Given the description of an element on the screen output the (x, y) to click on. 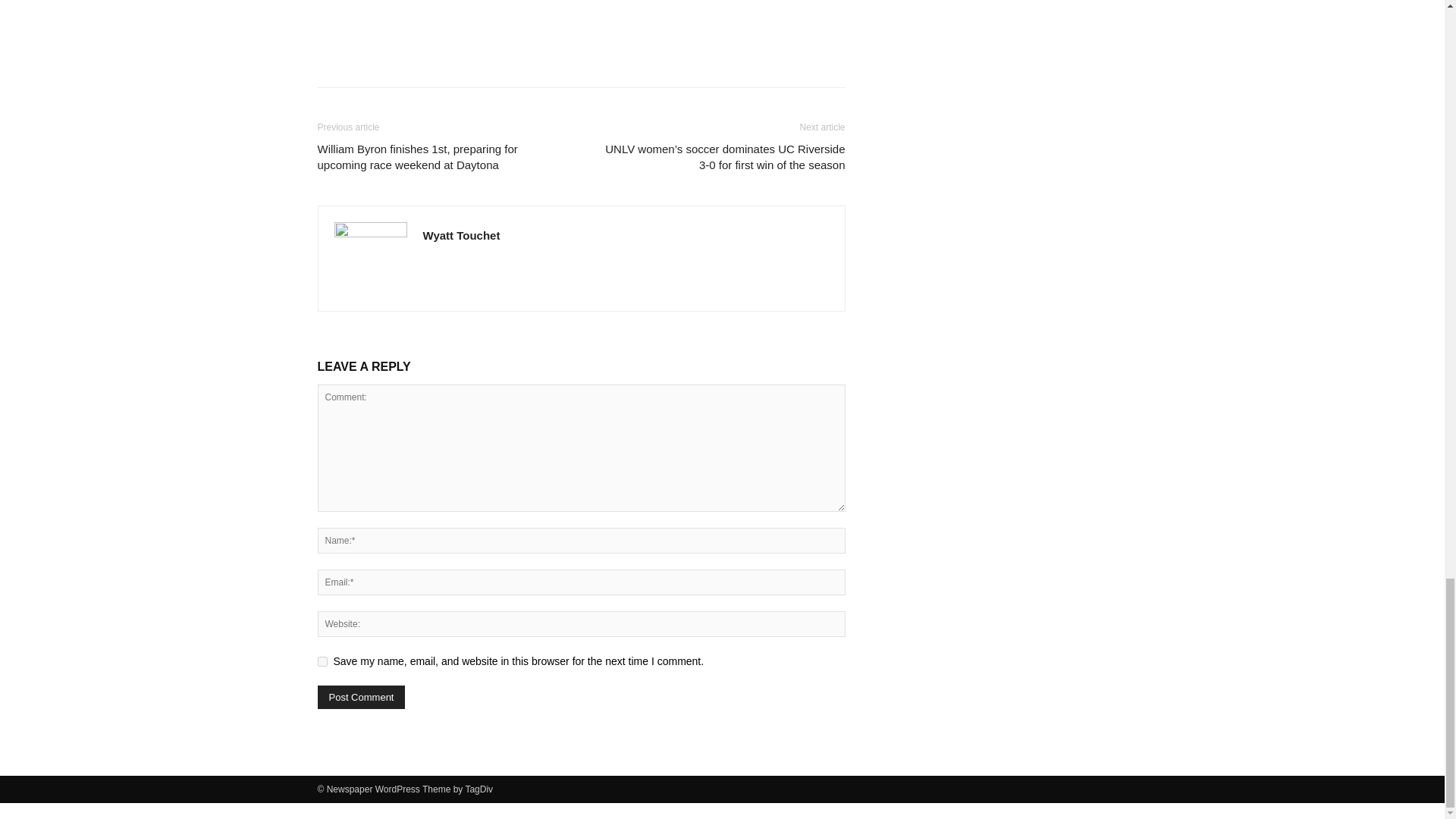
Post Comment (360, 697)
yes (321, 661)
Post Comment (360, 697)
Wyatt Touchet (461, 235)
